Given the description of an element on the screen output the (x, y) to click on. 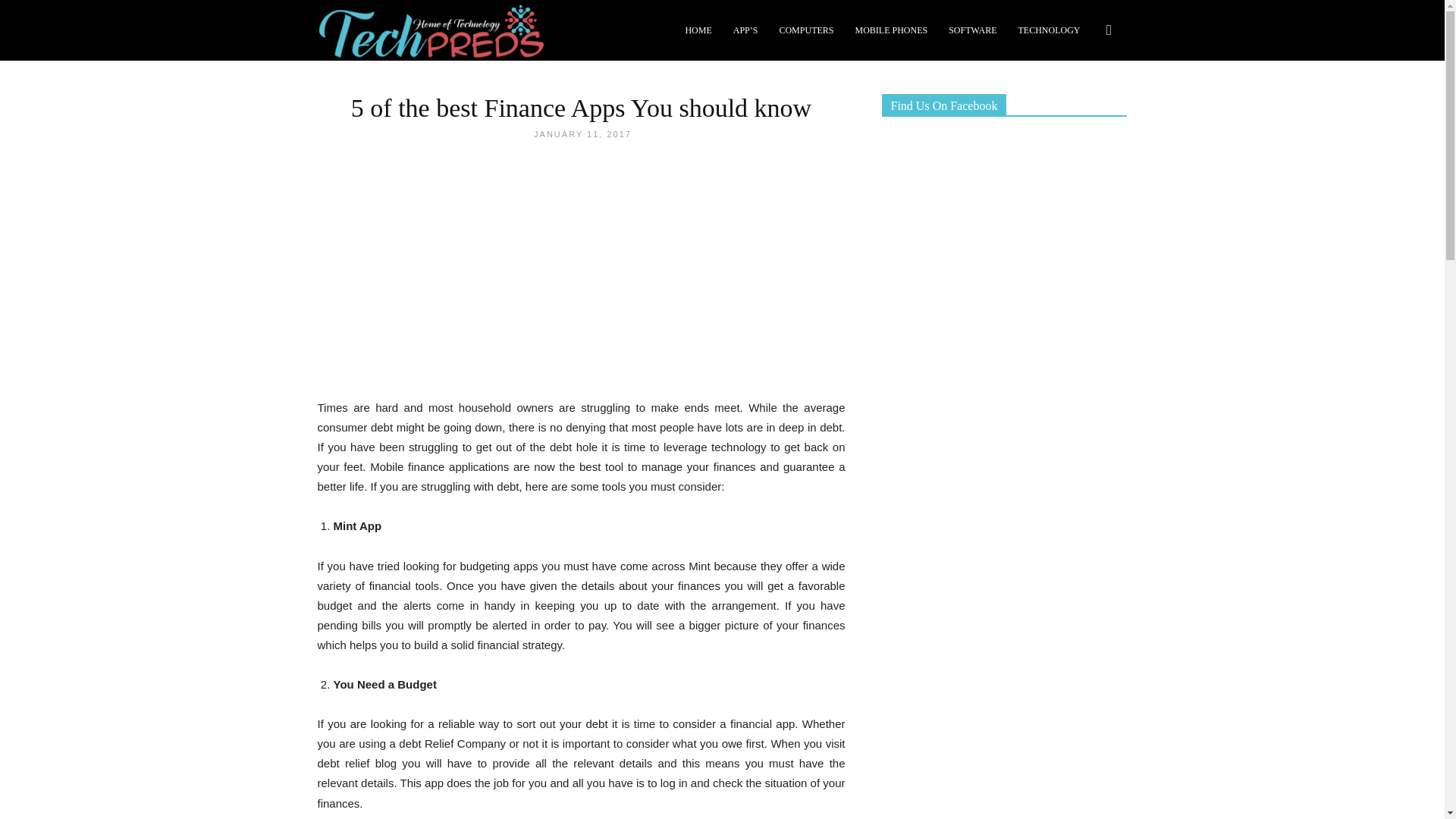
SOFTWARE (972, 30)
MOBILE PHONES (890, 30)
TECHNOLOGY (1048, 30)
Search (1083, 103)
COMPUTERS (806, 30)
